Given the description of an element on the screen output the (x, y) to click on. 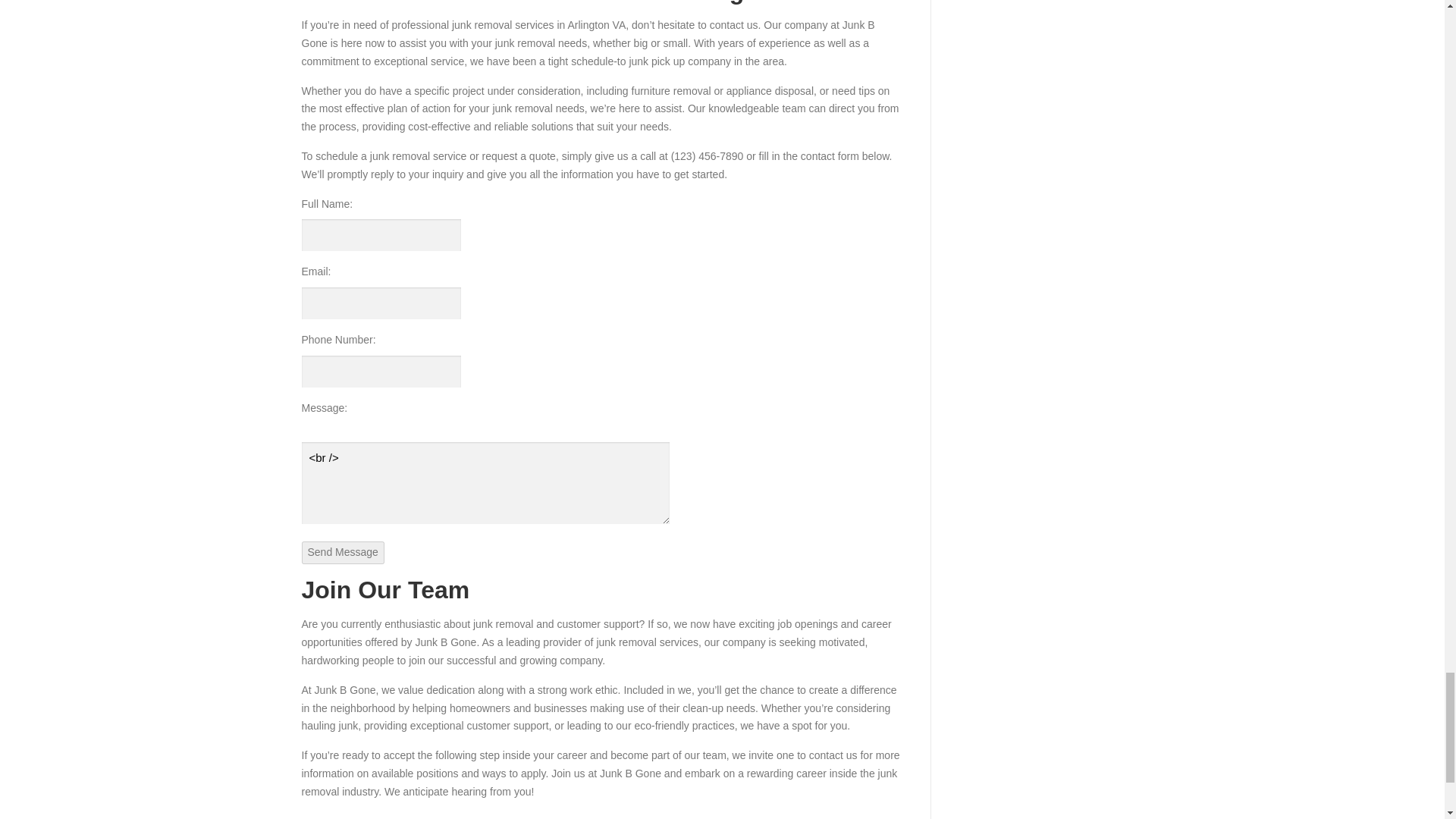
Send Message (342, 552)
